Given the description of an element on the screen output the (x, y) to click on. 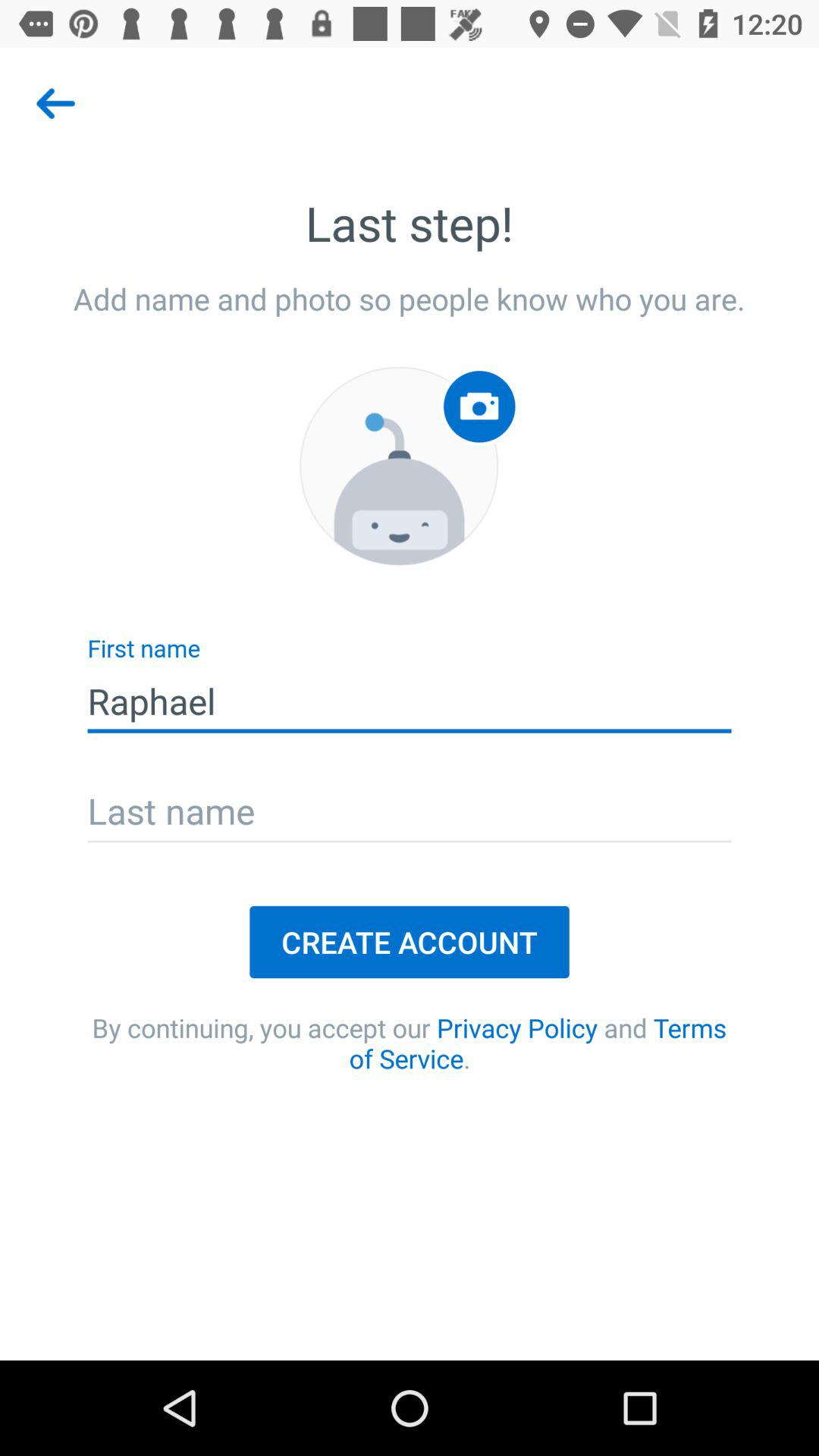
click icon above the raphael icon (398, 465)
